Given the description of an element on the screen output the (x, y) to click on. 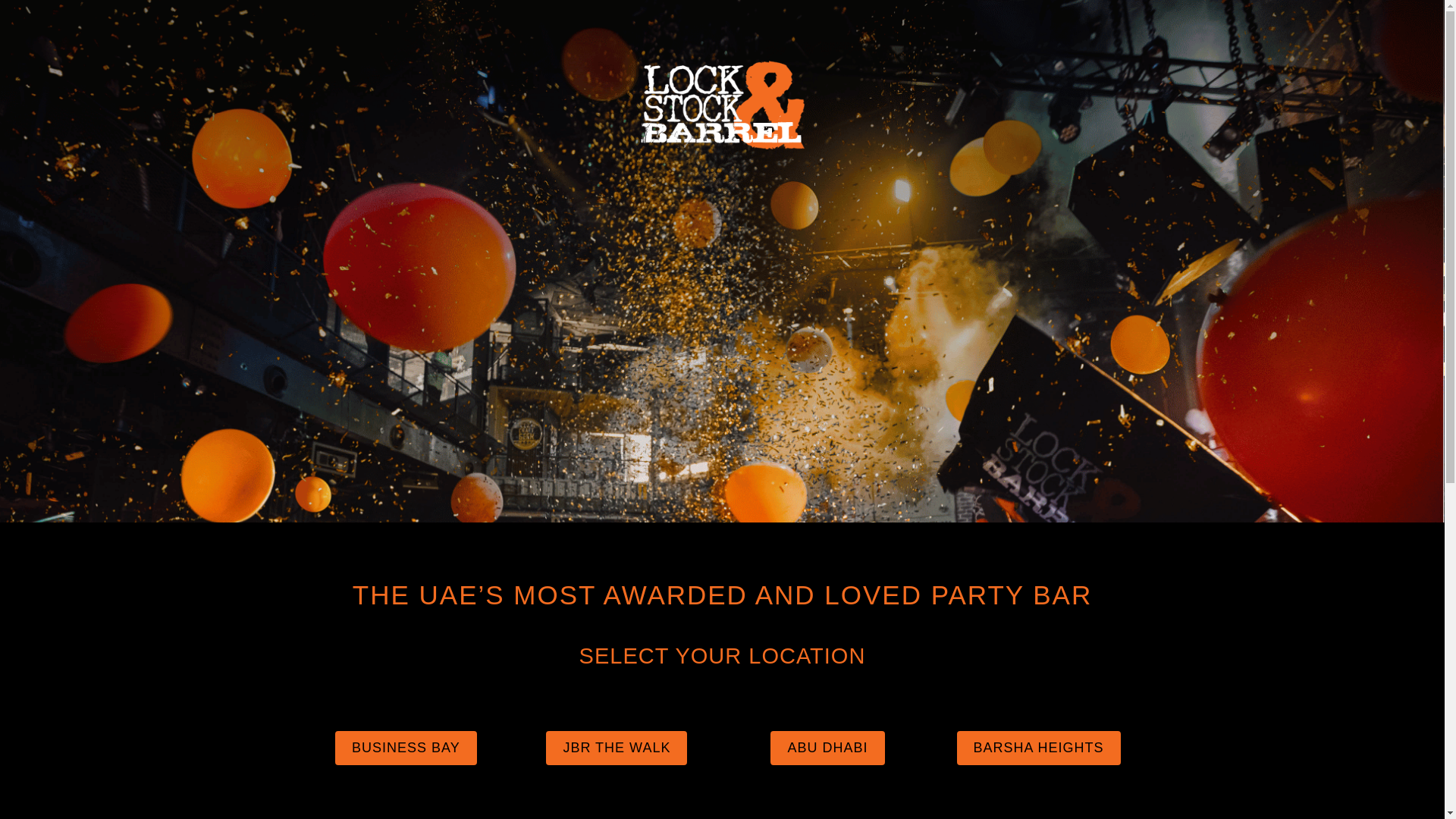
JBR THE WALK (616, 747)
BUSINESS BAY (405, 747)
ABU DHABI (826, 747)
BARSHA HEIGHTS (1038, 747)
